Given the description of an element on the screen output the (x, y) to click on. 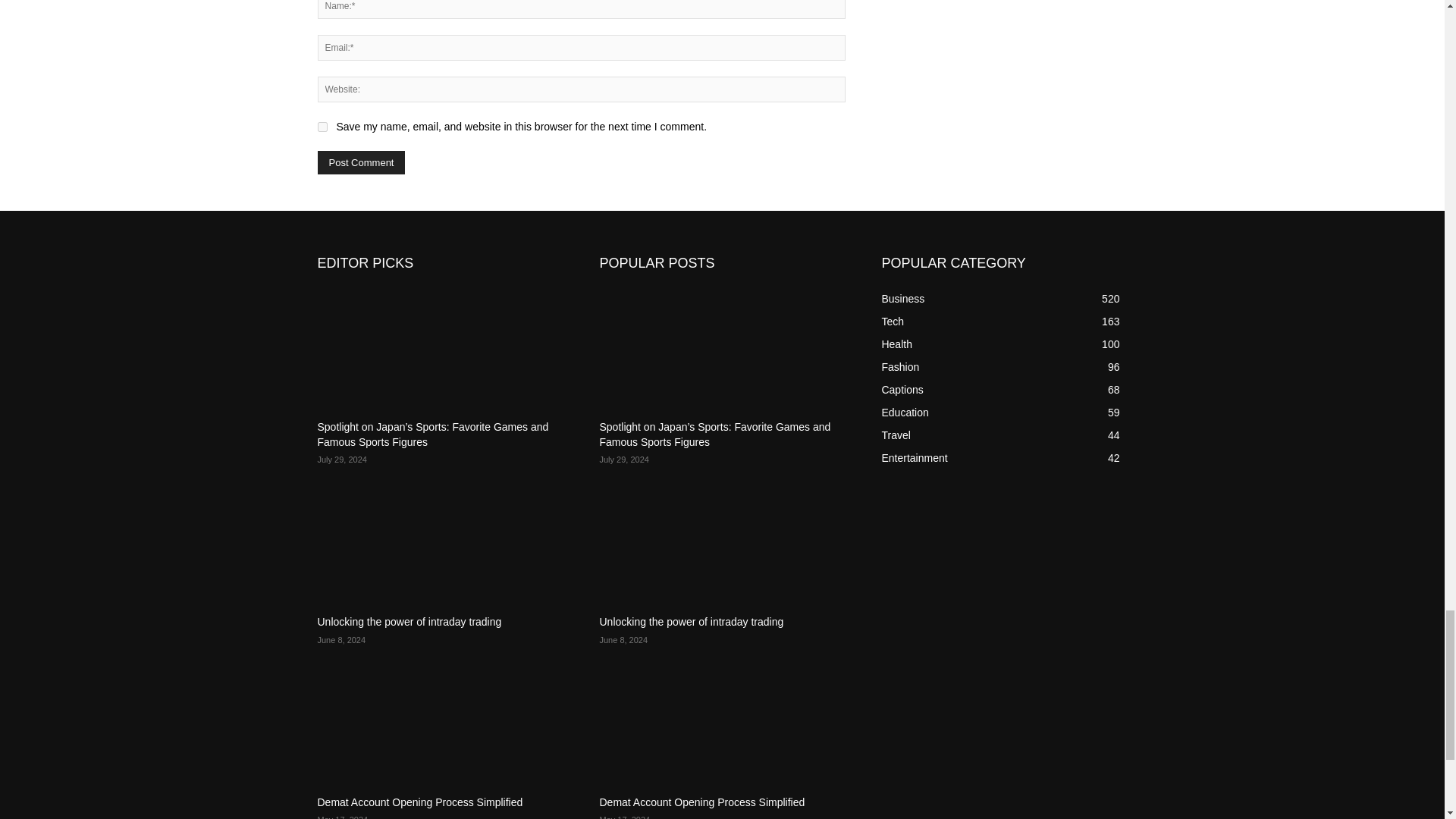
yes (321, 126)
Post Comment (360, 162)
